Given the description of an element on the screen output the (x, y) to click on. 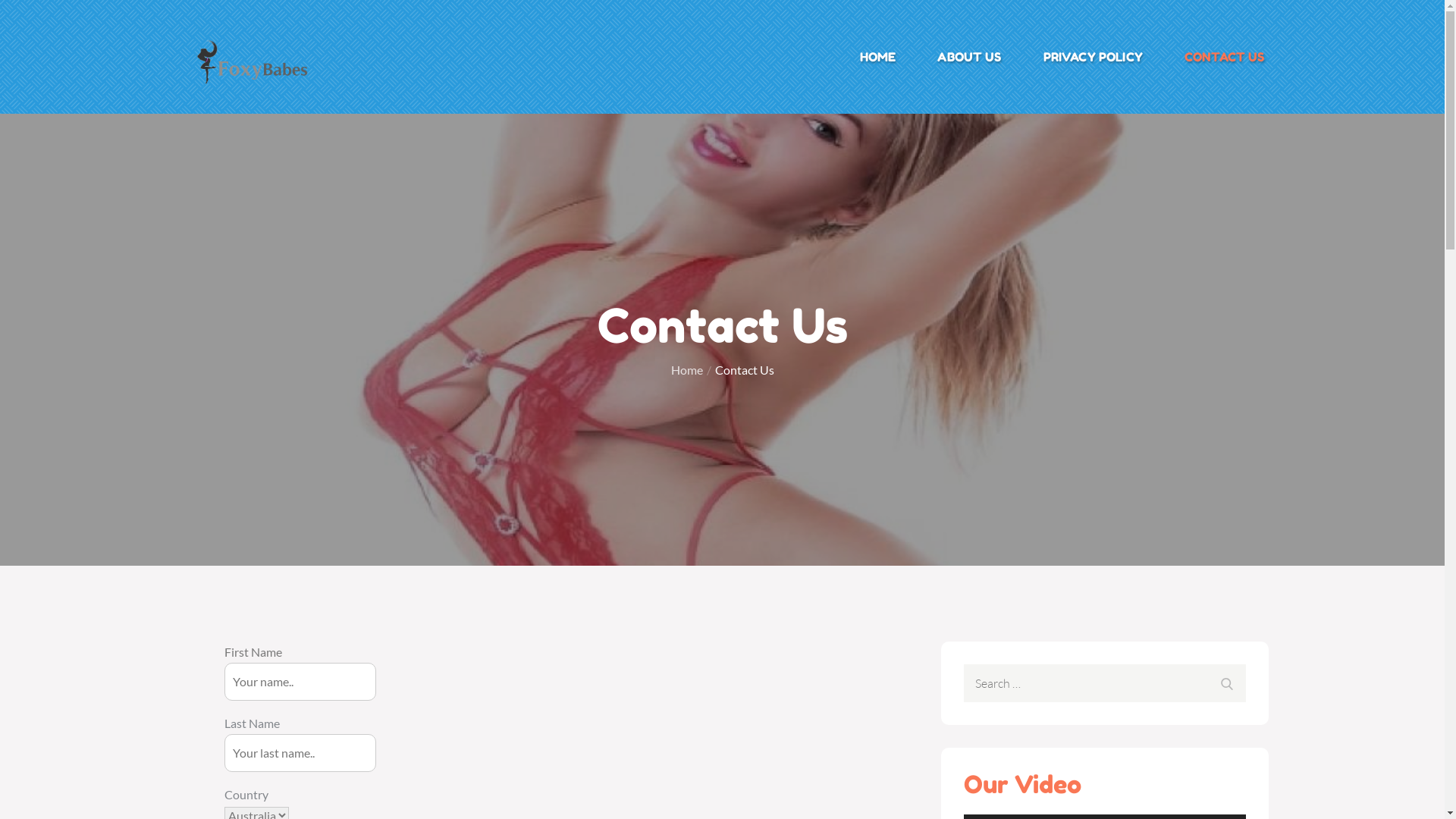
CONTACT US Element type: text (1224, 56)
Foxy Babes Element type: text (388, 72)
PRIVACY POLICY Element type: text (1093, 56)
Home Element type: text (686, 370)
HOME Element type: text (877, 56)
Search Element type: text (1226, 683)
ABOUT US Element type: text (968, 56)
